Given the description of an element on the screen output the (x, y) to click on. 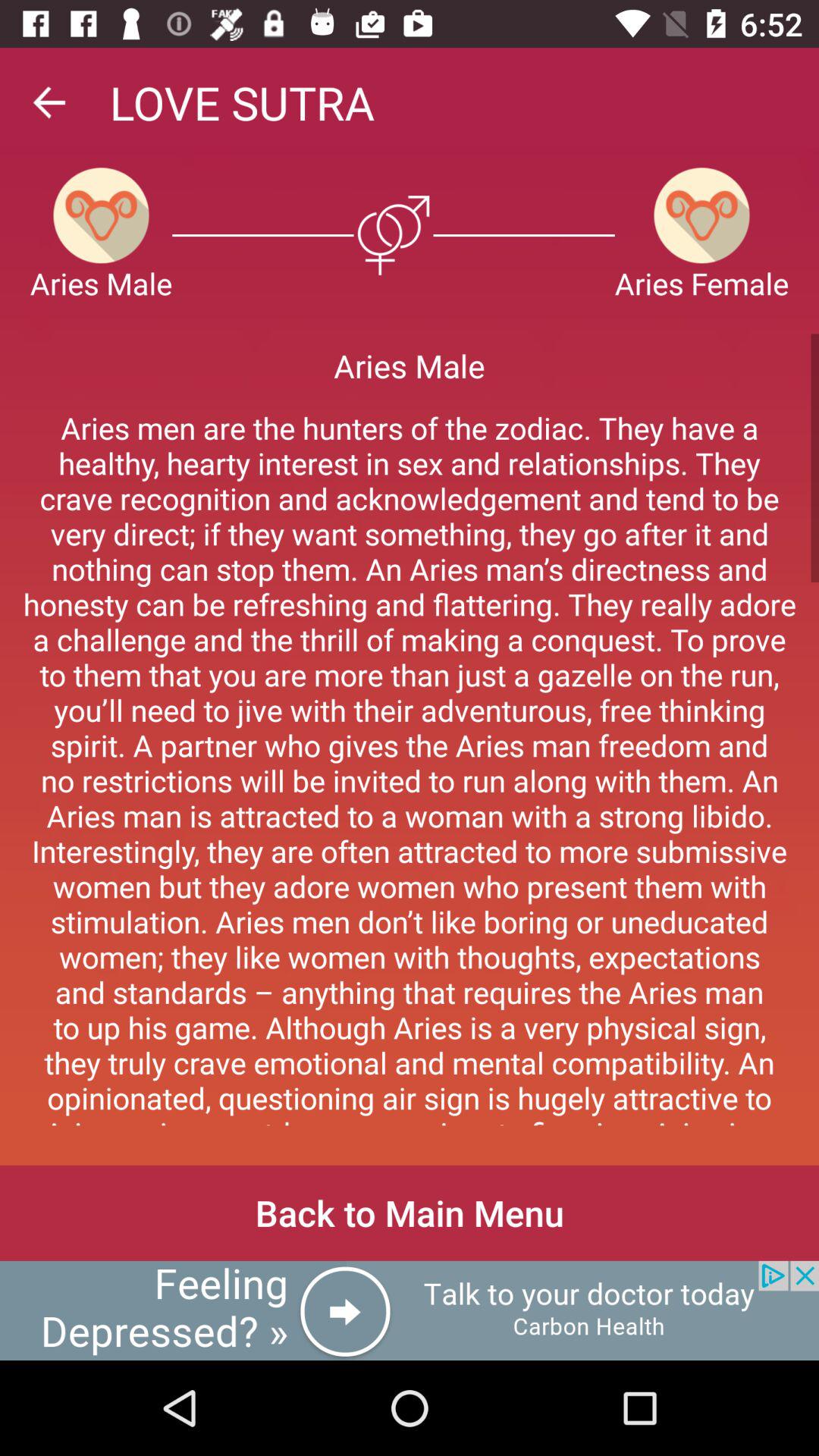
click to back arrow (49, 102)
